Given the description of an element on the screen output the (x, y) to click on. 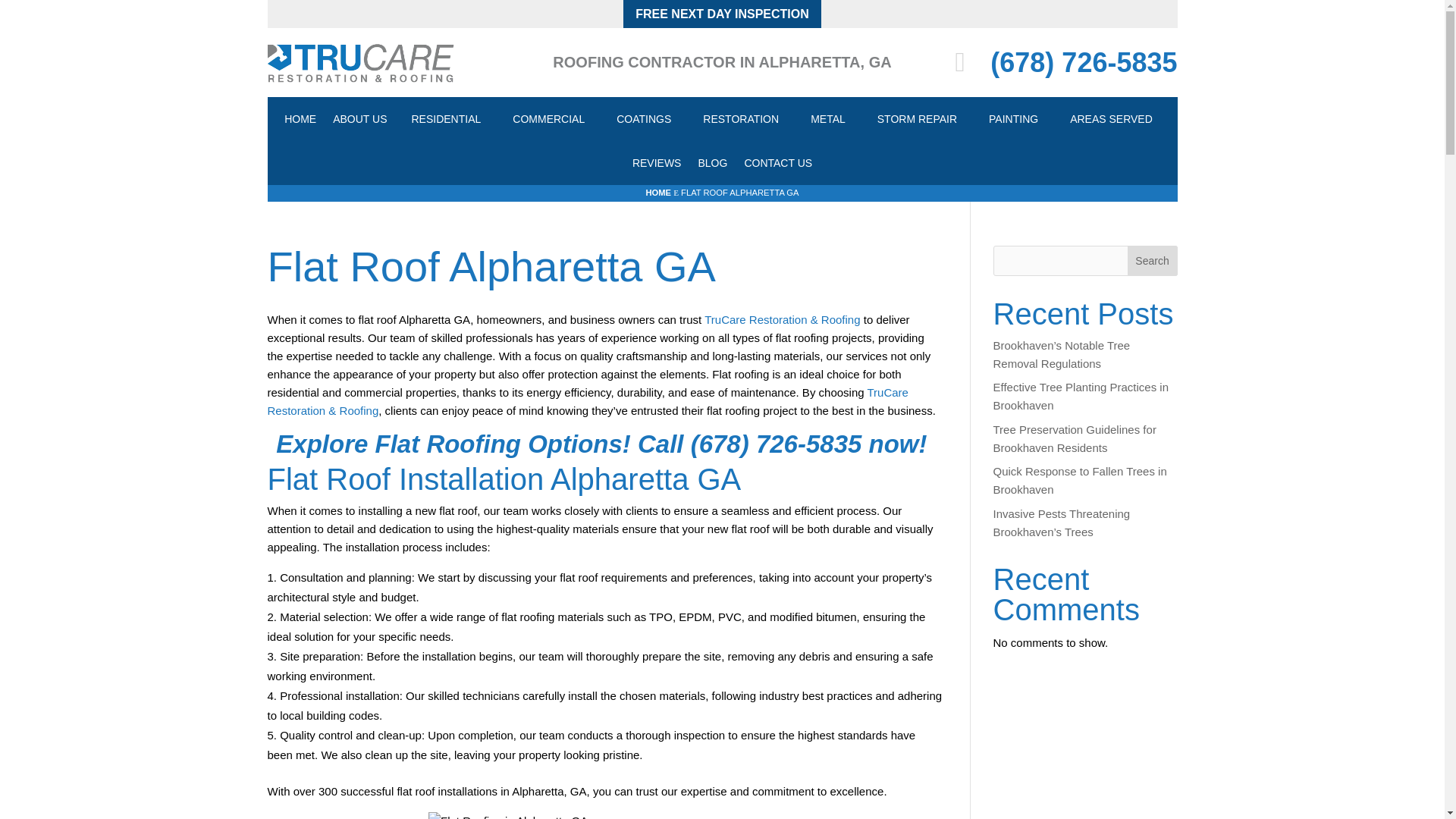
RESIDENTIAL (445, 118)
RESTORATION (740, 118)
METAL (828, 118)
FREE NEXT DAY INSPECTION (722, 13)
COATINGS (643, 118)
TruCare Restoration (361, 62)
HOME (299, 118)
COMMERCIAL (548, 118)
ABOUT US (360, 118)
